Given the description of an element on the screen output the (x, y) to click on. 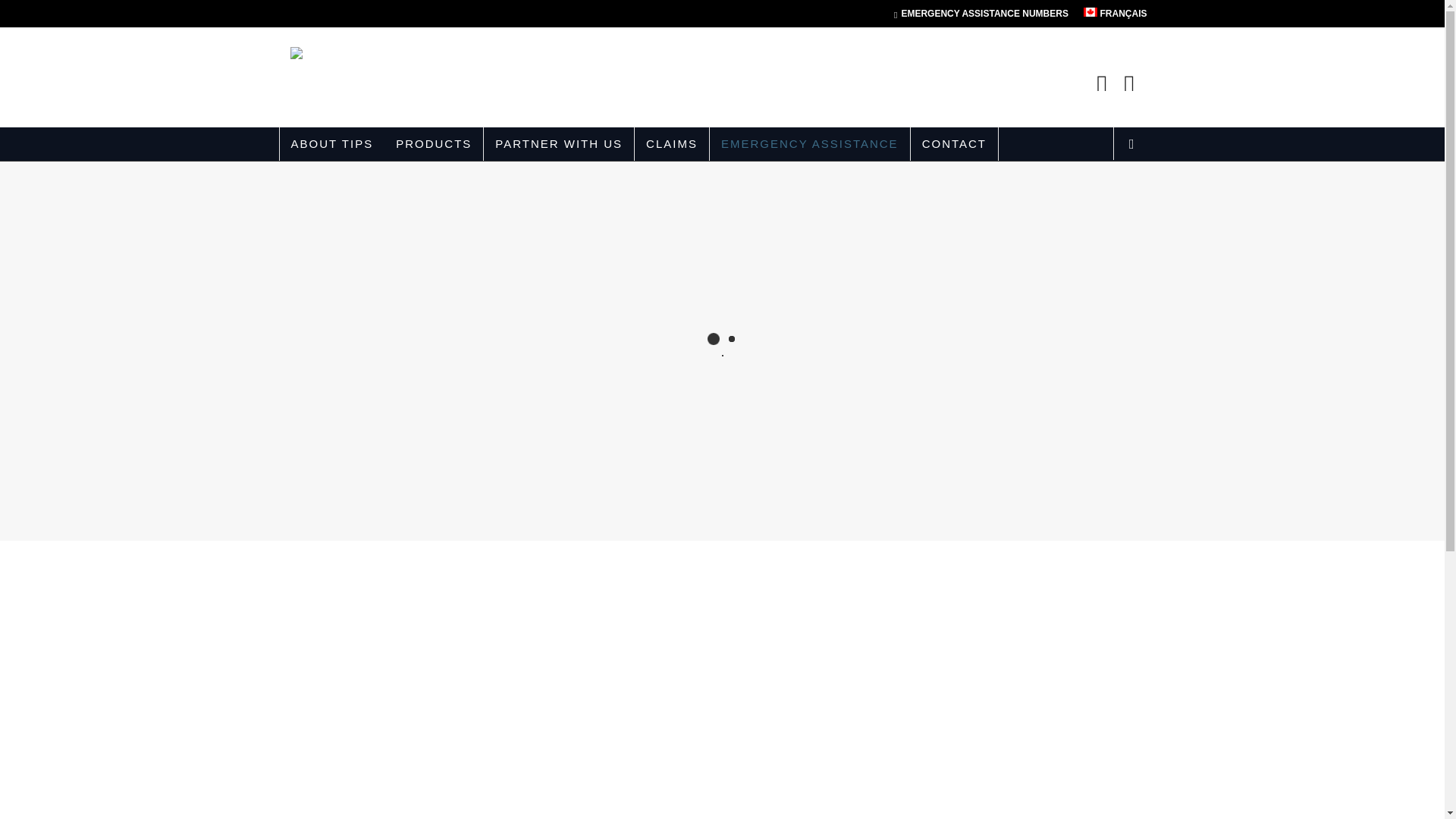
ABOUT TIPS (331, 143)
EMERGENCY ASSISTANCE NUMBERS (980, 13)
PRODUCTS (433, 143)
